Given the description of an element on the screen output the (x, y) to click on. 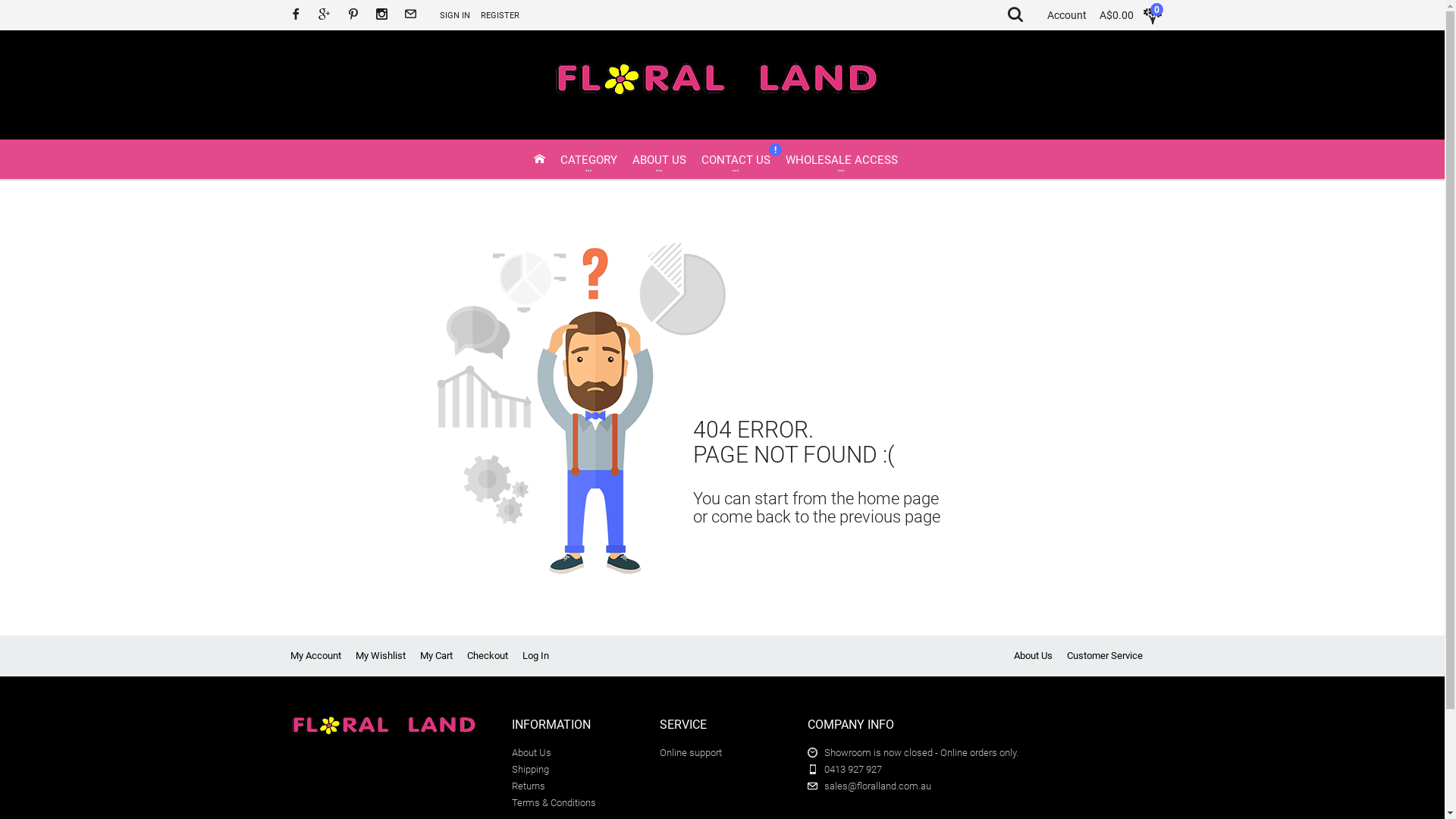
Log In Element type: text (534, 655)
Customer Service Element type: text (1104, 655)
My Cart Element type: text (436, 655)
SIGN IN Element type: text (454, 15)
CONTACT US
! Element type: text (735, 160)
come back Element type: text (750, 516)
My Wishlist Element type: text (379, 655)
WHOLESALE ACCESS Element type: text (841, 160)
About Us Element type: text (531, 752)
ABOUT US Element type: text (658, 160)
My Account Element type: text (314, 655)
Returns Element type: text (528, 785)
sales@floralland.com.au Element type: text (877, 785)
Terms & Conditions Element type: text (553, 802)
Checkout Element type: text (487, 655)
About Us Element type: text (1032, 655)
Shipping Element type: text (530, 769)
REGISTER Element type: text (499, 15)
Online support Element type: text (690, 752)
CATEGORY Element type: text (588, 160)
0413 927 927 Element type: text (852, 769)
home page Element type: text (897, 498)
Floral Land Element type: hover (716, 84)
